Given the description of an element on the screen output the (x, y) to click on. 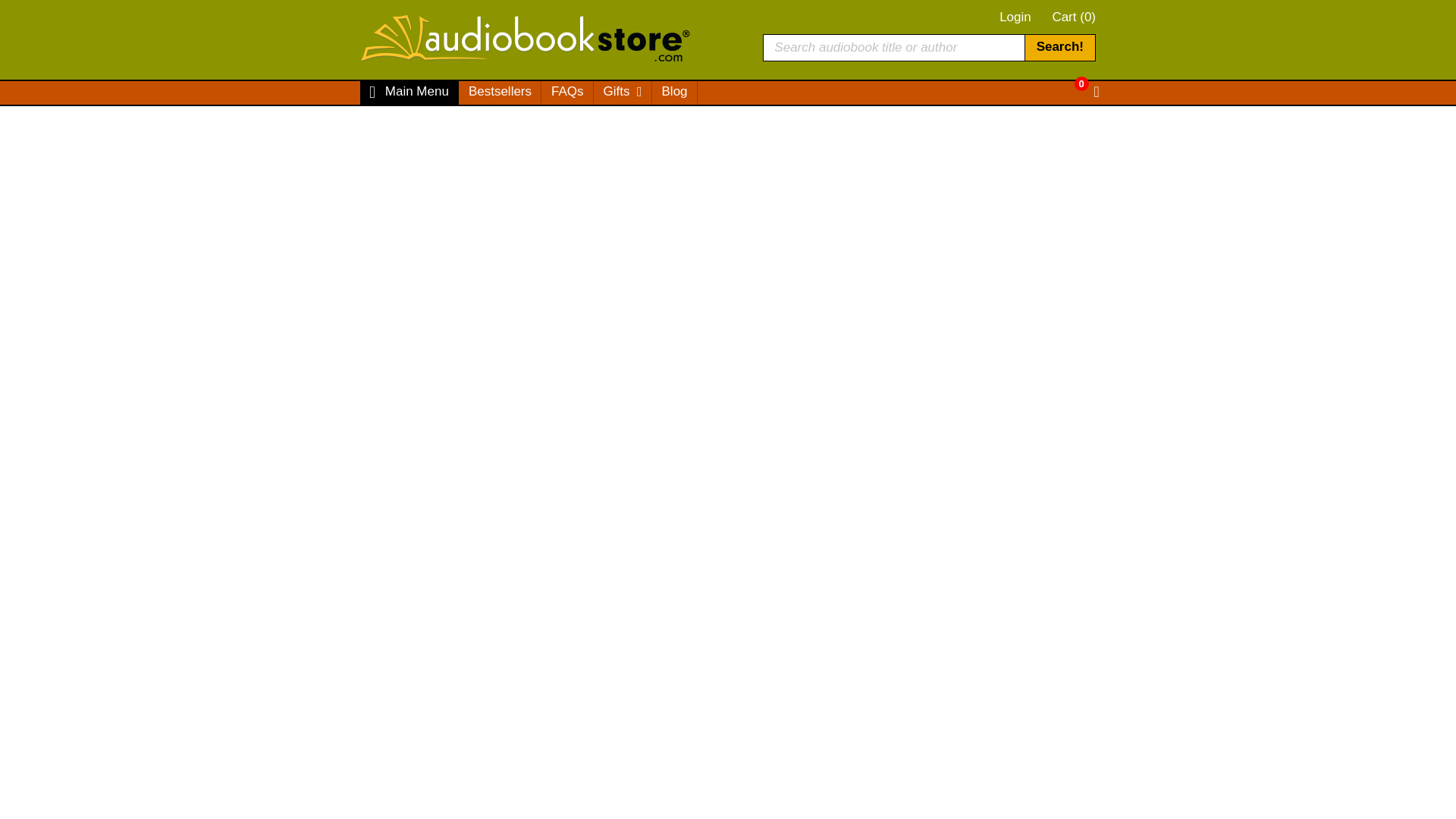
Shopping cart (1072, 83)
Shopping cart (1073, 16)
Search! (1059, 47)
Shopping cart (1086, 92)
